Given the description of an element on the screen output the (x, y) to click on. 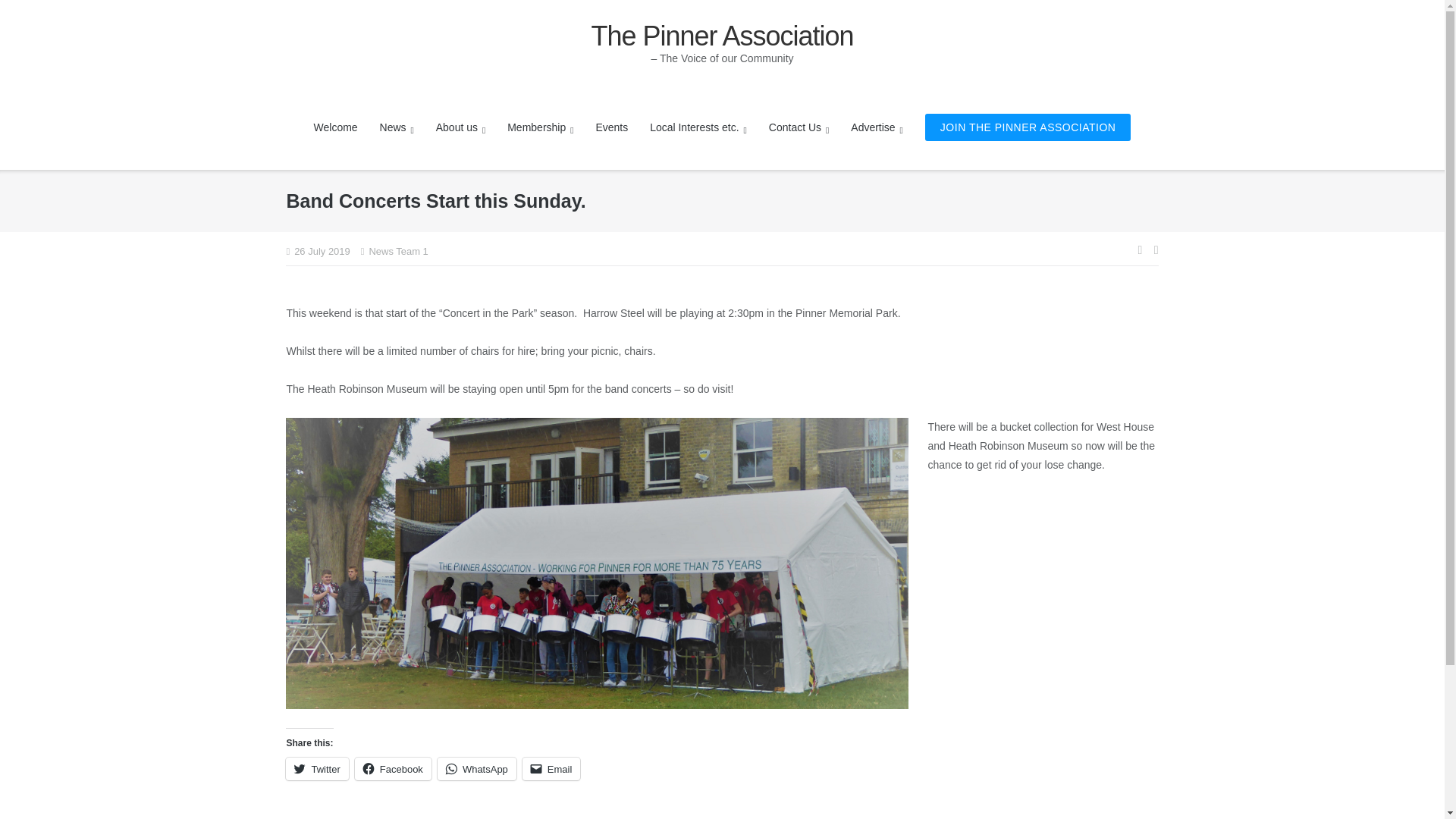
Email (551, 768)
Click to share on WhatsApp (477, 768)
JOIN THE PINNER ASSOCIATION (1027, 126)
Facebook (392, 768)
Click to share on Facebook (392, 768)
The Pinner Association (722, 36)
JOIN THE PINNER ASSOCIATION (1027, 127)
Click to email a link to a friend (551, 768)
WhatsApp (477, 768)
Twitter (316, 768)
